Given the description of an element on the screen output the (x, y) to click on. 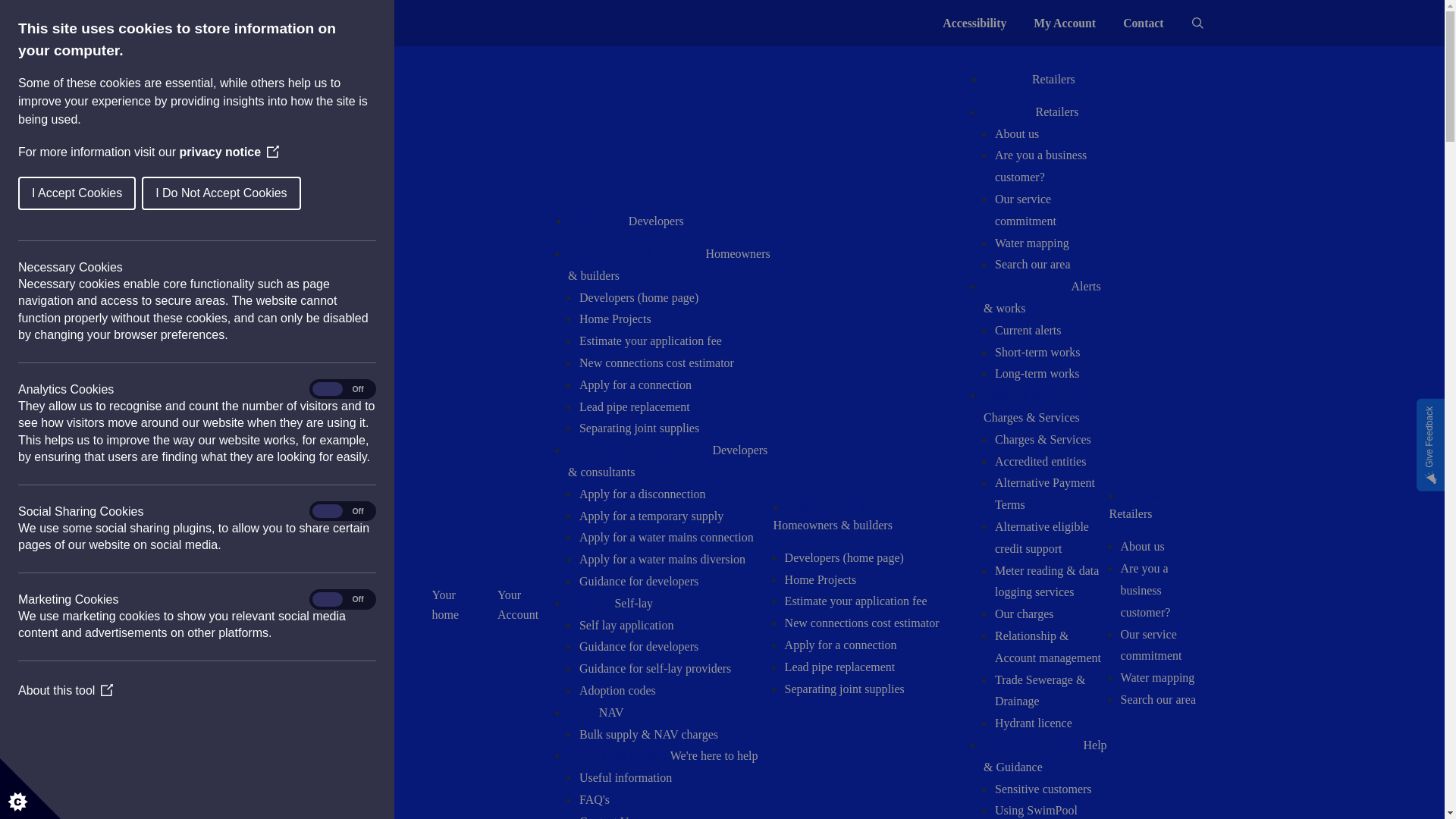
Accessibility (974, 24)
Your home (449, 605)
Contact (1142, 24)
My Account (1064, 24)
I Do Not Accept Cookies (81, 192)
